Given the description of an element on the screen output the (x, y) to click on. 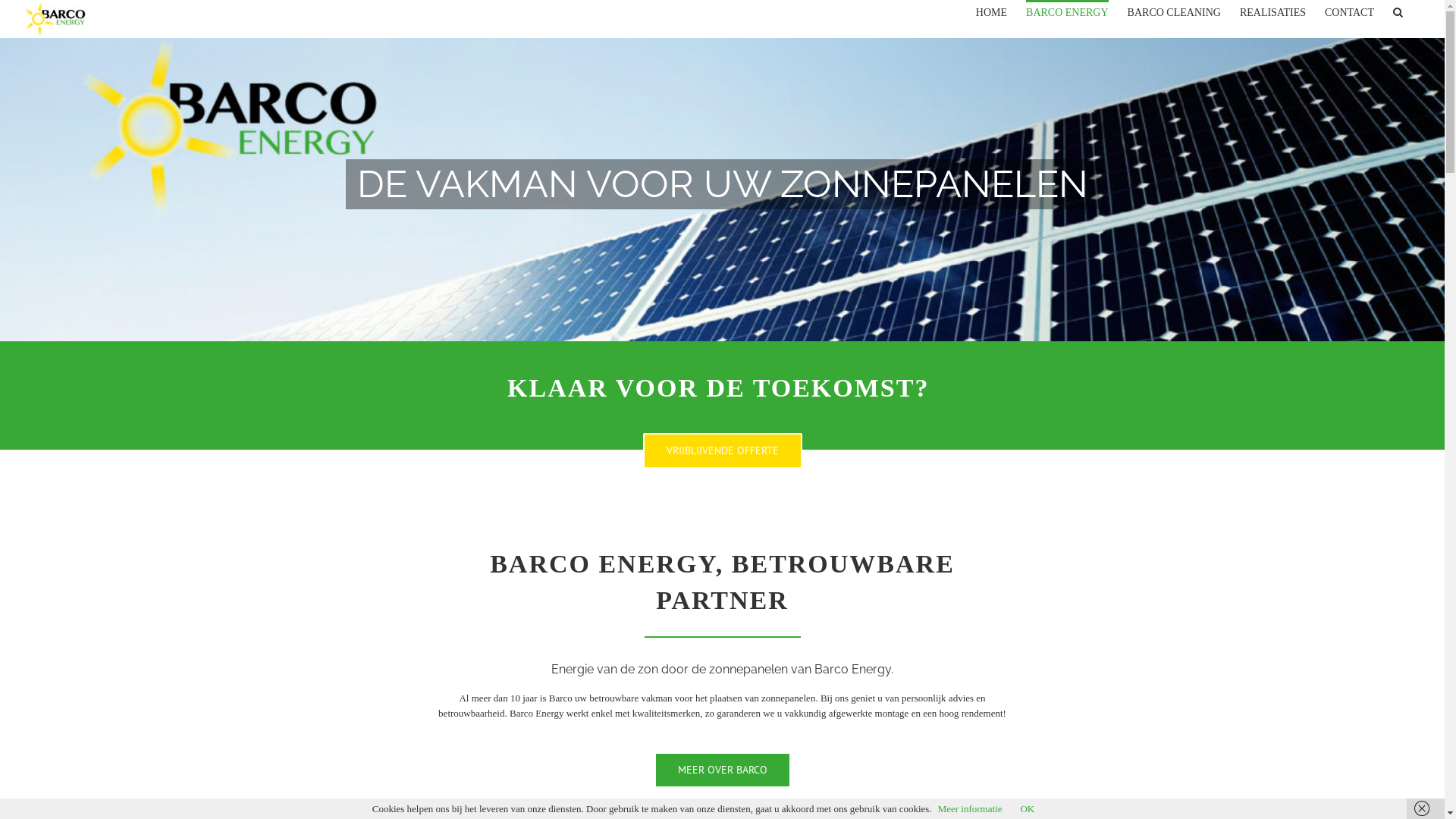
Meer informatie Element type: text (970, 807)
REALISATIES Element type: text (1272, 11)
BARCO CLEANING Element type: text (1173, 11)
MEER OVER BARCO Element type: text (721, 769)
OK Element type: text (1026, 807)
Search Element type: hover (1397, 11)
VRIJBLIJVENDE OFFERTE Element type: text (722, 450)
BARCO ENERGY Element type: text (1067, 11)
HOME Element type: text (991, 11)
CONTACT Element type: text (1349, 11)
